Given the description of an element on the screen output the (x, y) to click on. 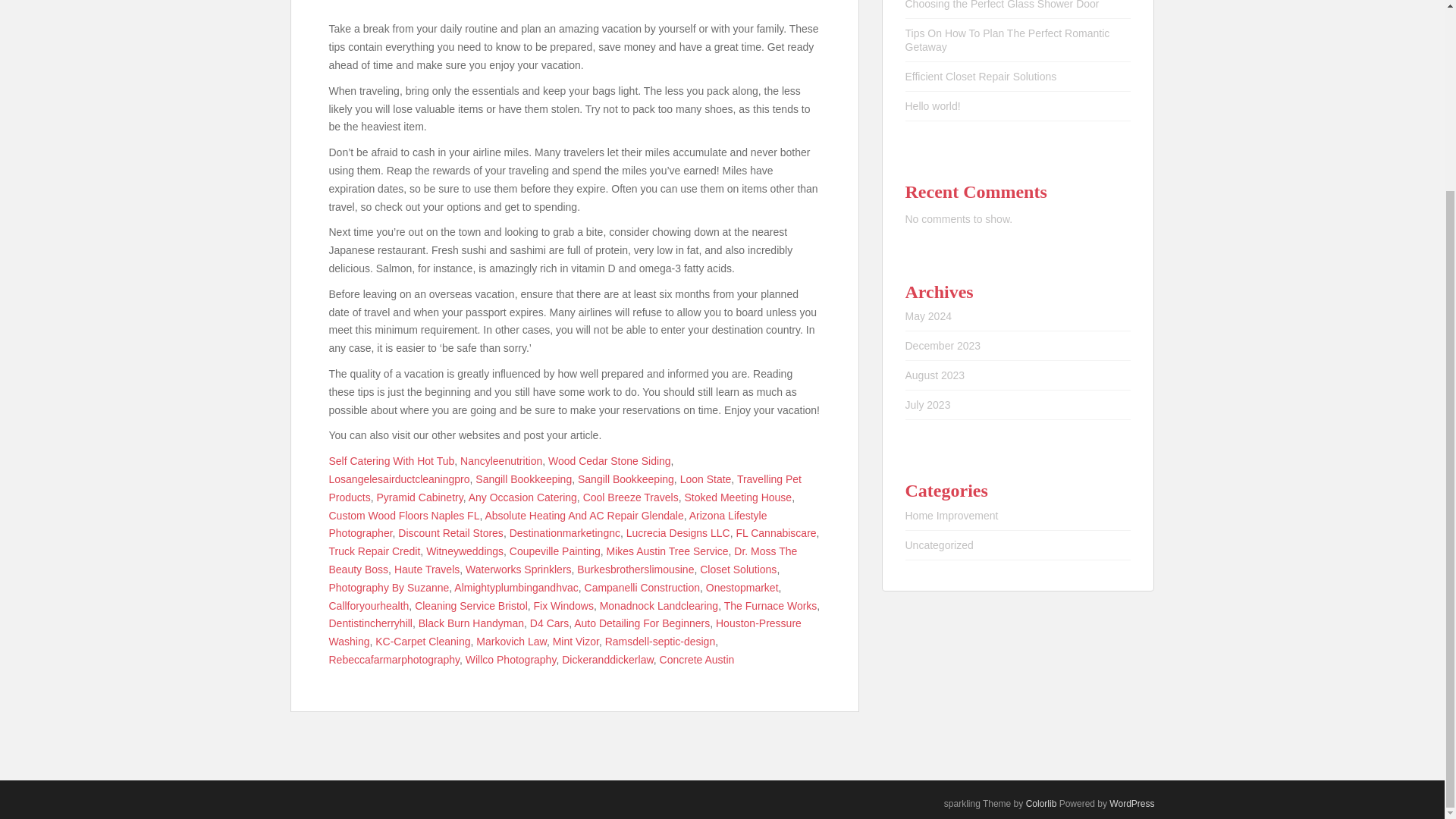
Callforyourhealth (369, 604)
Destinationmarketingnc (564, 532)
Burkesbrotherslimousine (635, 569)
Sangill Bookkeeping (524, 479)
Custom Wood Floors Naples FL (404, 515)
Losangelesairductcleaningpro (399, 479)
Lucrecia Designs LLC (678, 532)
Truck Repair Credit (374, 551)
Dr. Moss The Beauty Boss (563, 560)
Cool Breeze Travels (630, 497)
Discount Retail Stores (450, 532)
Campanelli Construction (642, 587)
Pyramid Cabinetry (420, 497)
Loon State (705, 479)
Onestopmarket (742, 587)
